Given the description of an element on the screen output the (x, y) to click on. 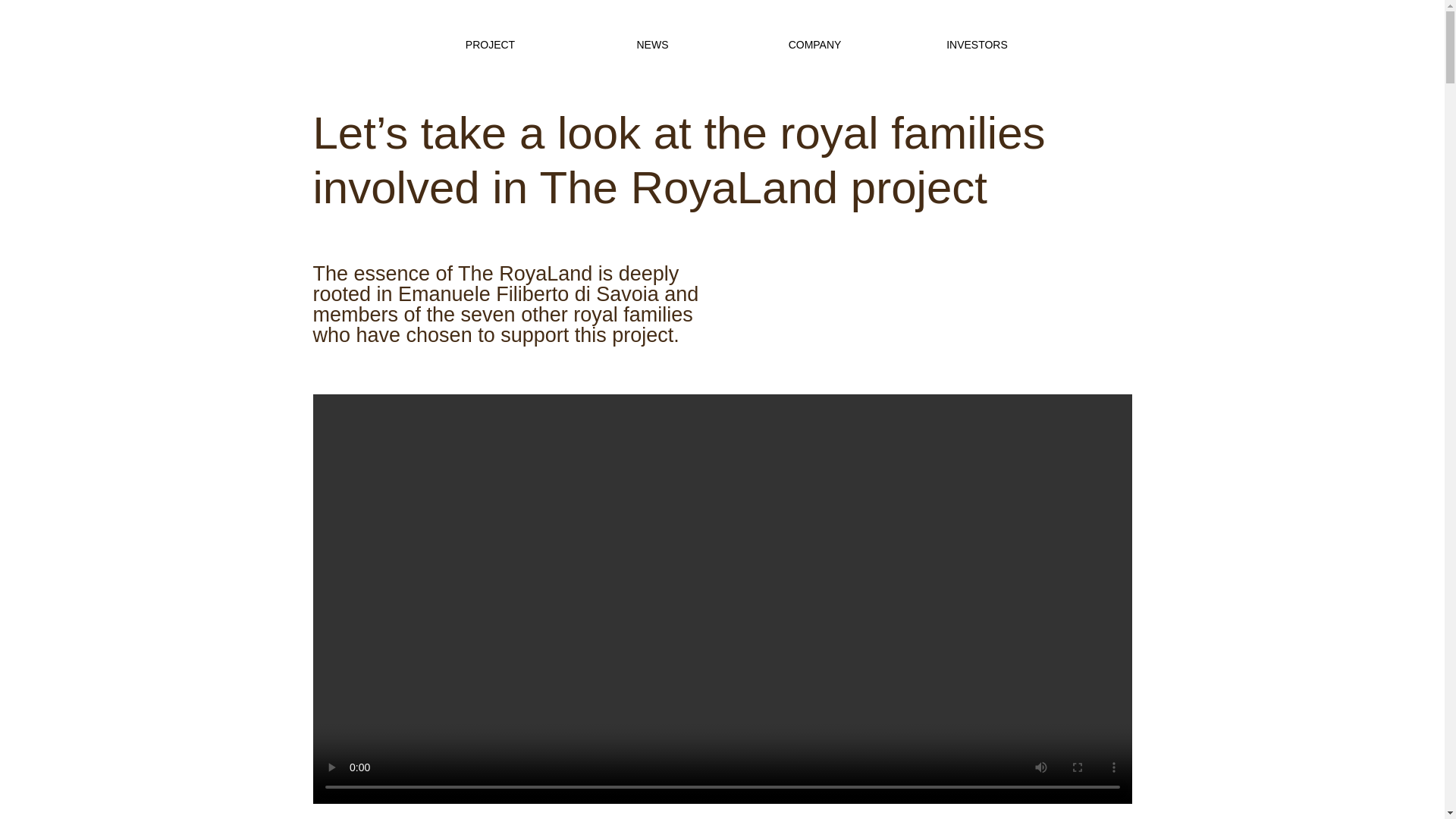
INVESTORS (977, 44)
COMPANY (814, 44)
NEWS (652, 44)
PROJECT (490, 44)
